Given the description of an element on the screen output the (x, y) to click on. 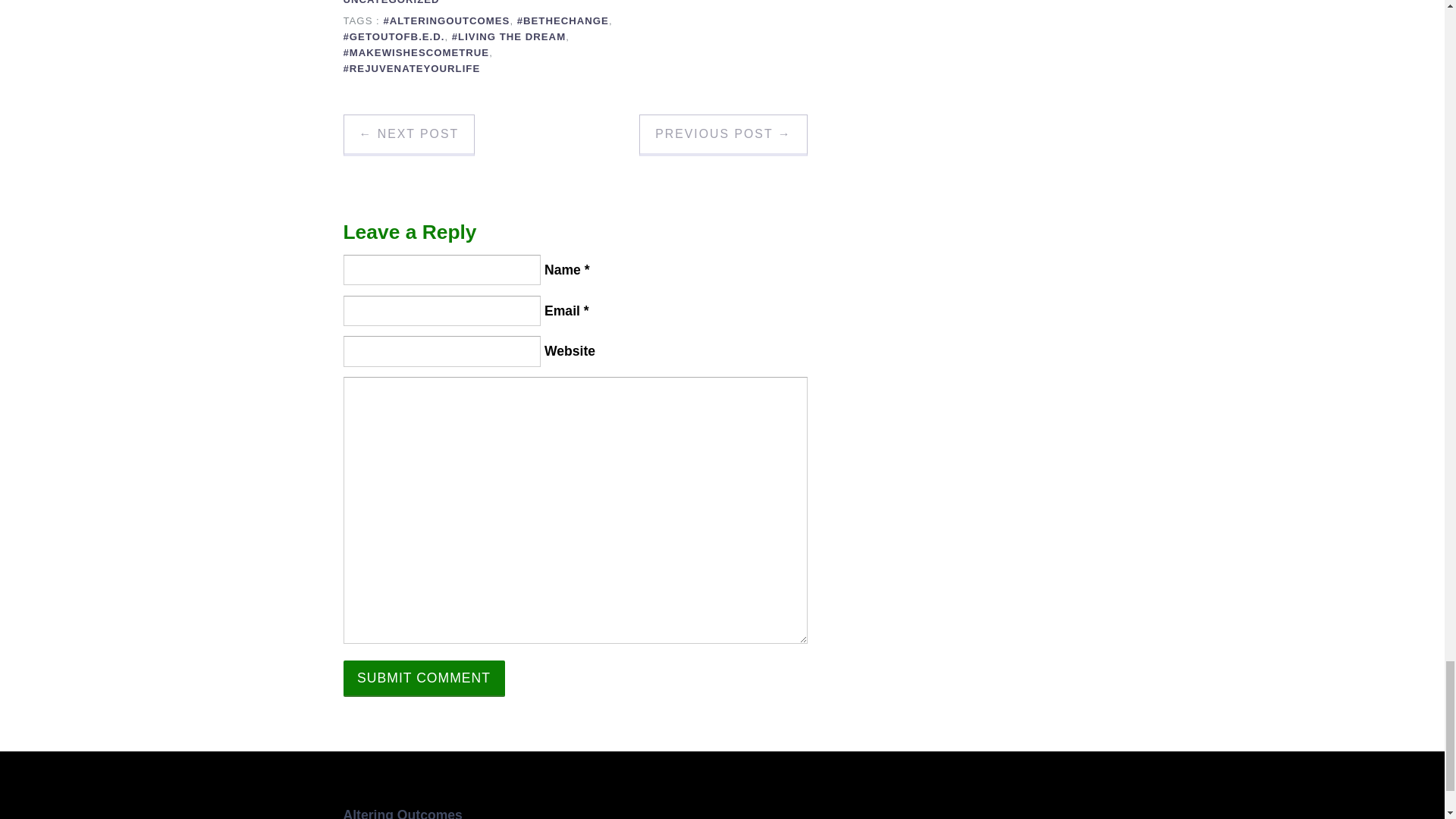
UNCATEGORIZED (390, 2)
Submit Comment (422, 678)
